Given the description of an element on the screen output the (x, y) to click on. 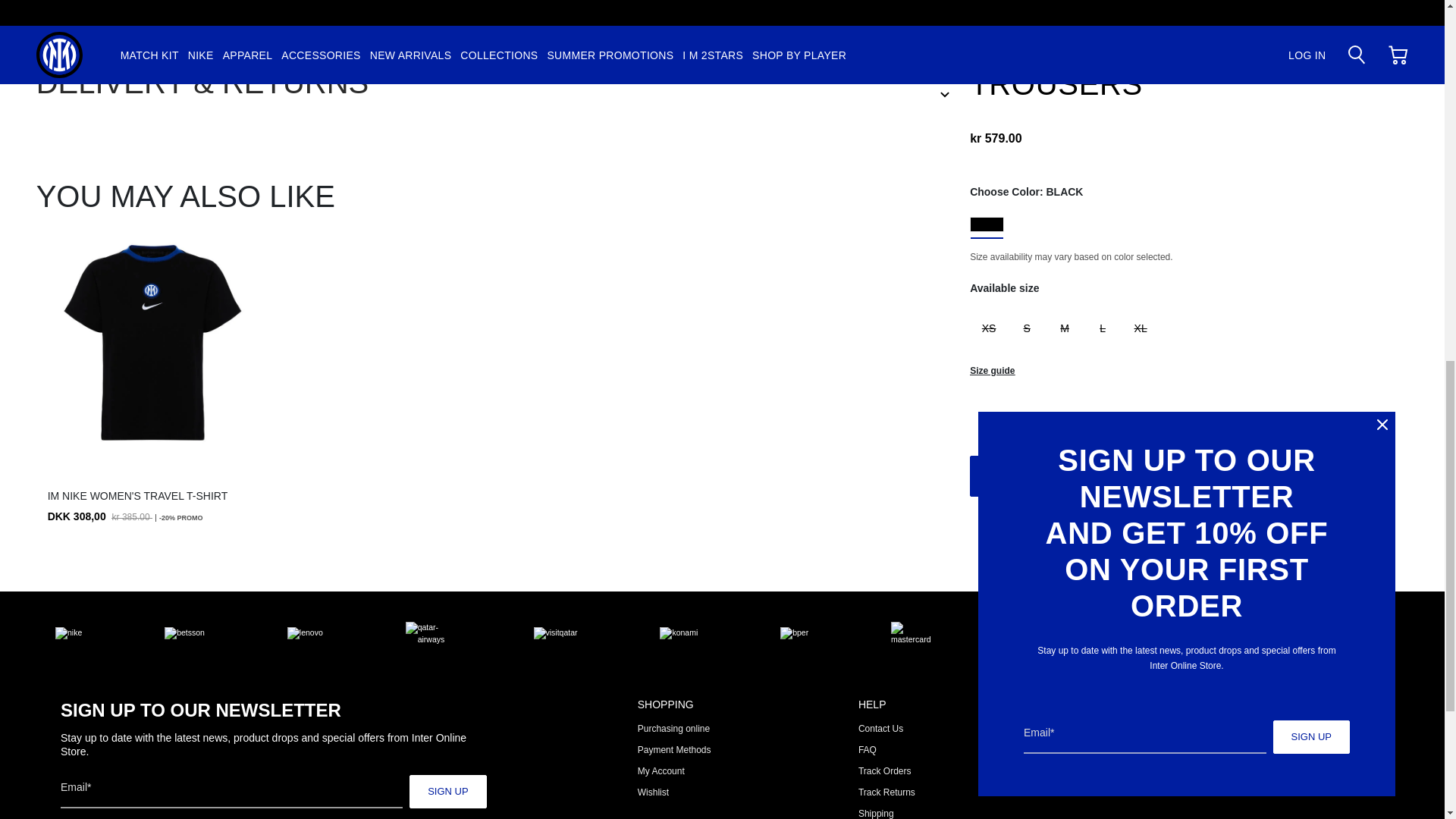
Image IM NIKE WOMEN'S TRAVEL T-SHIRT (153, 343)
Go to Payment Methods (674, 749)
Go to Track Orders (885, 770)
Go to Wishlist (652, 792)
Go to Contact Us (880, 728)
Go to Track Returns (887, 792)
Go to Purchasing Online (673, 728)
Go to Faq (867, 749)
Go to My Account (660, 770)
